Given the description of an element on the screen output the (x, y) to click on. 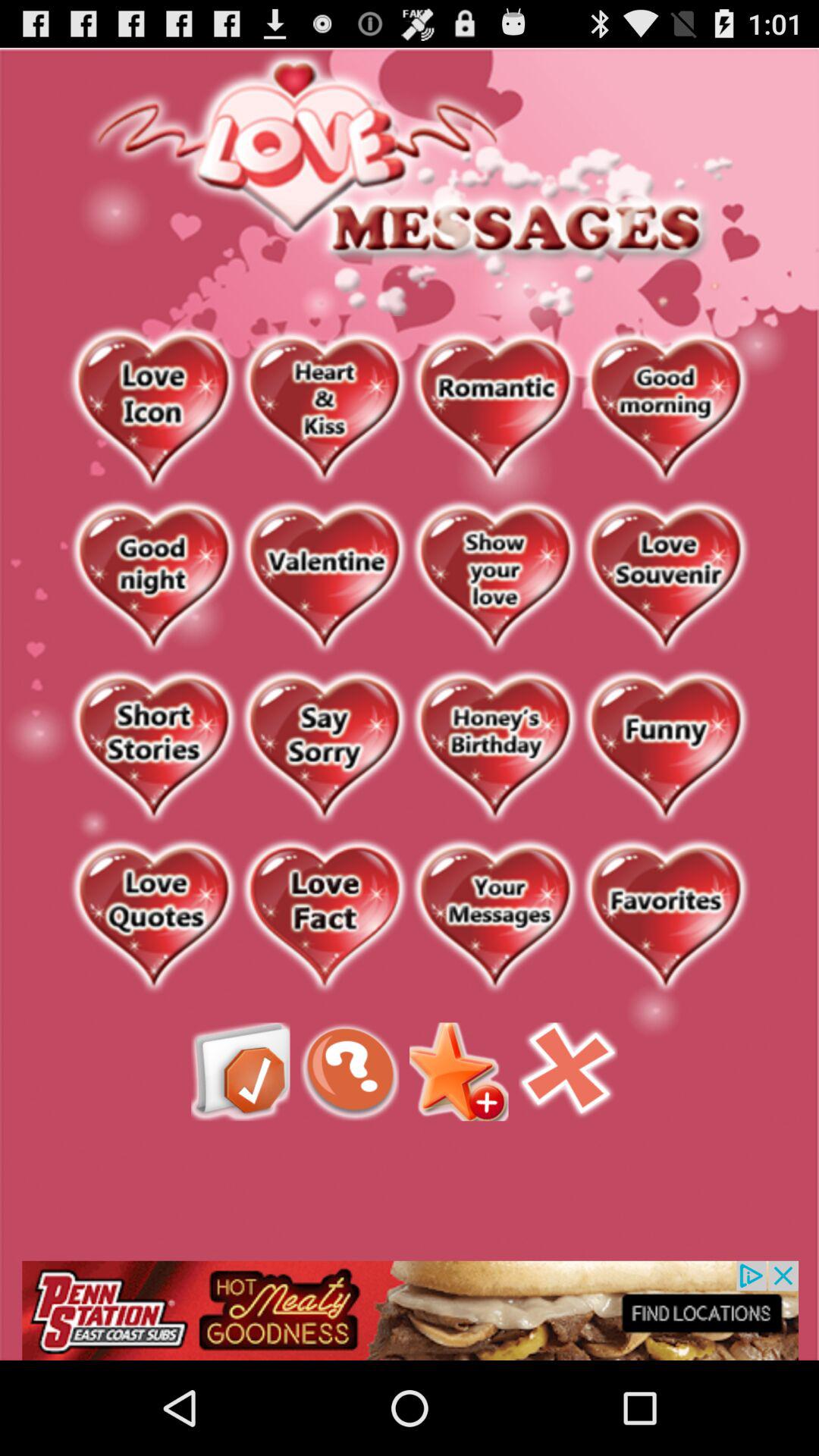
love quotes (153, 917)
